Given the description of an element on the screen output the (x, y) to click on. 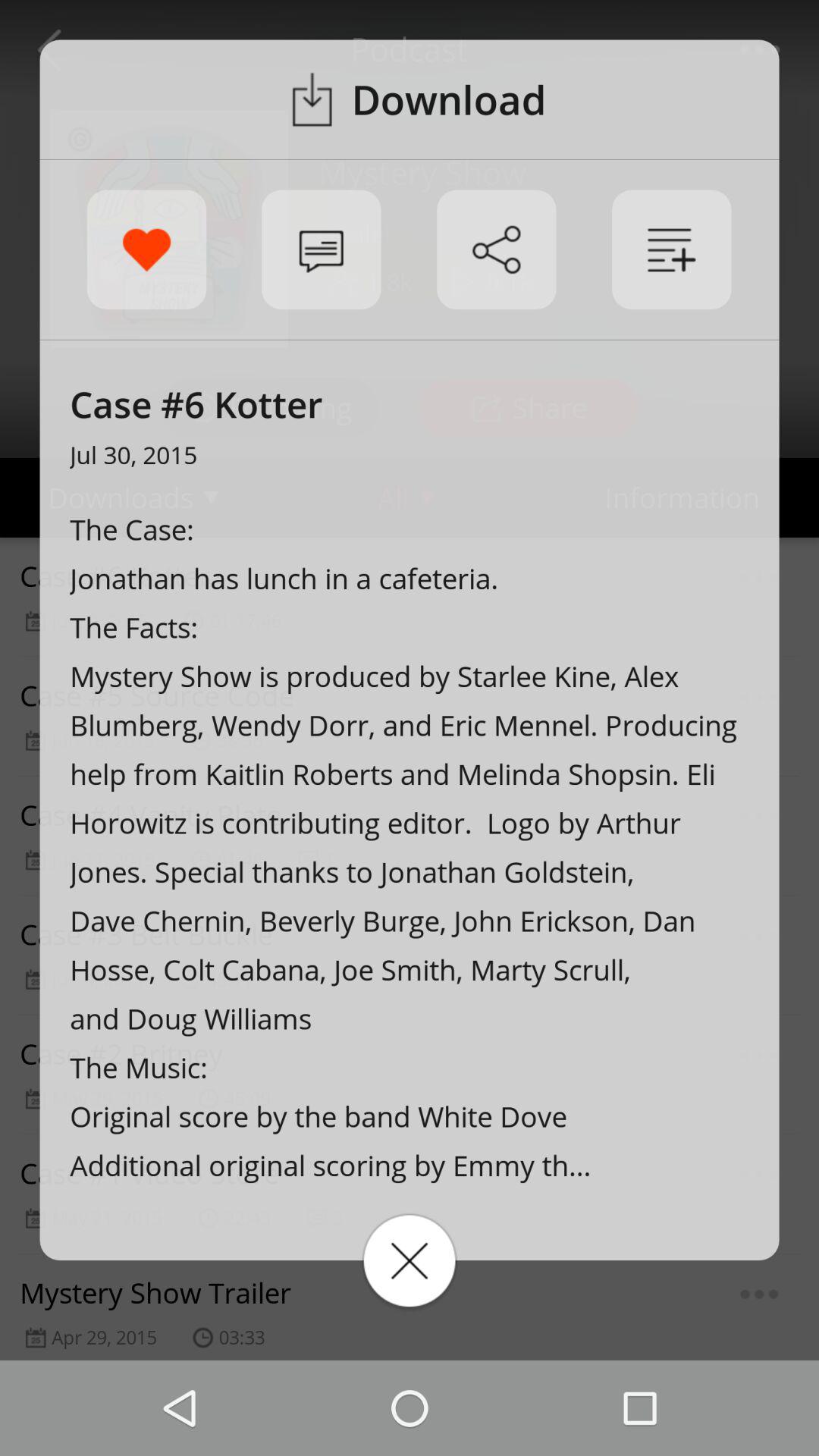
share (496, 249)
